Given the description of an element on the screen output the (x, y) to click on. 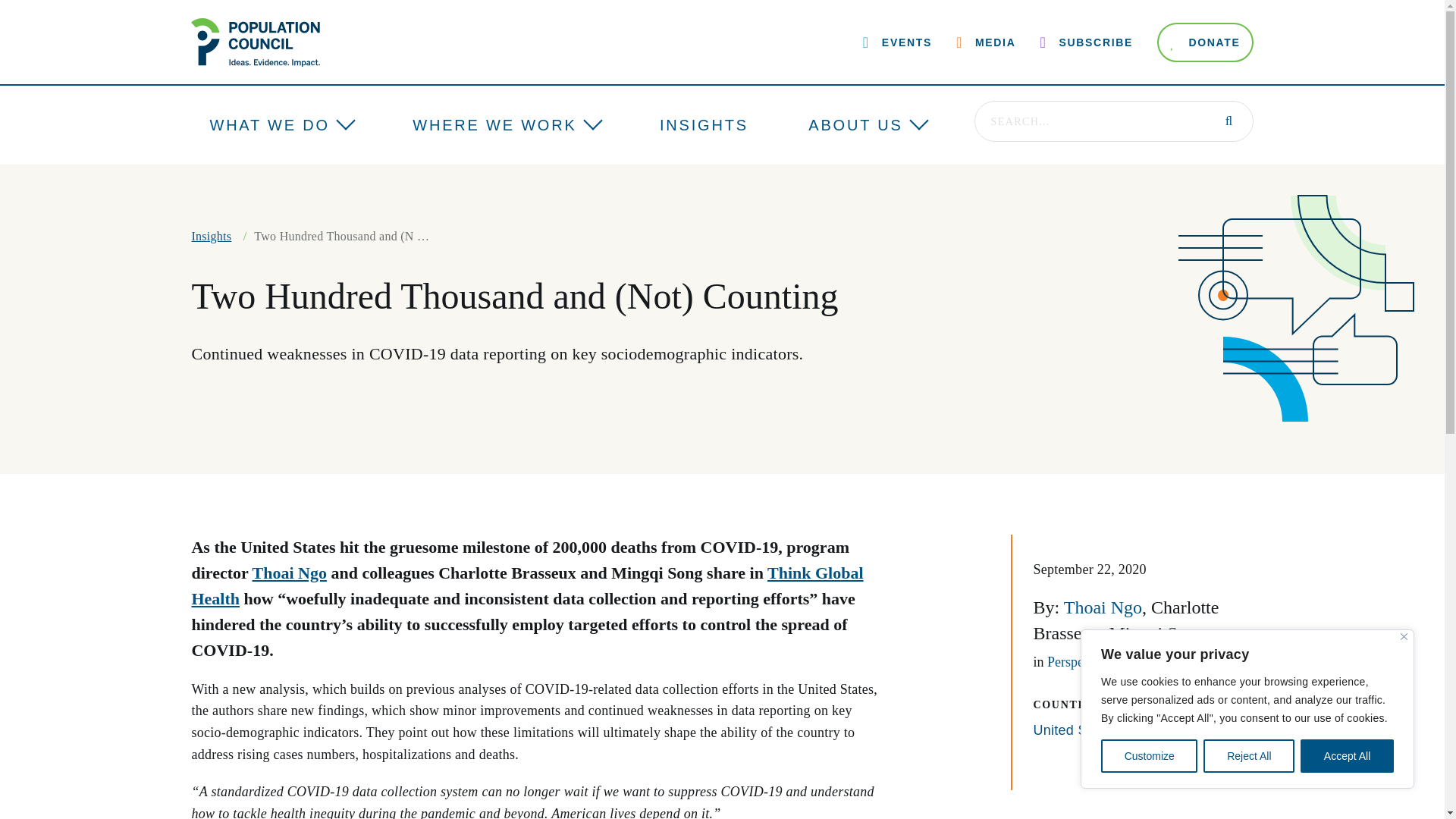
EVENTS (897, 42)
Accept All (1346, 756)
MEDIA (986, 42)
Customize (1148, 756)
WHERE WE WORK (494, 125)
SUBSCRIBE (1085, 42)
Reject All (1249, 756)
DONATE (1205, 42)
Subscribe to our newsletter (1085, 42)
